Given the description of an element on the screen output the (x, y) to click on. 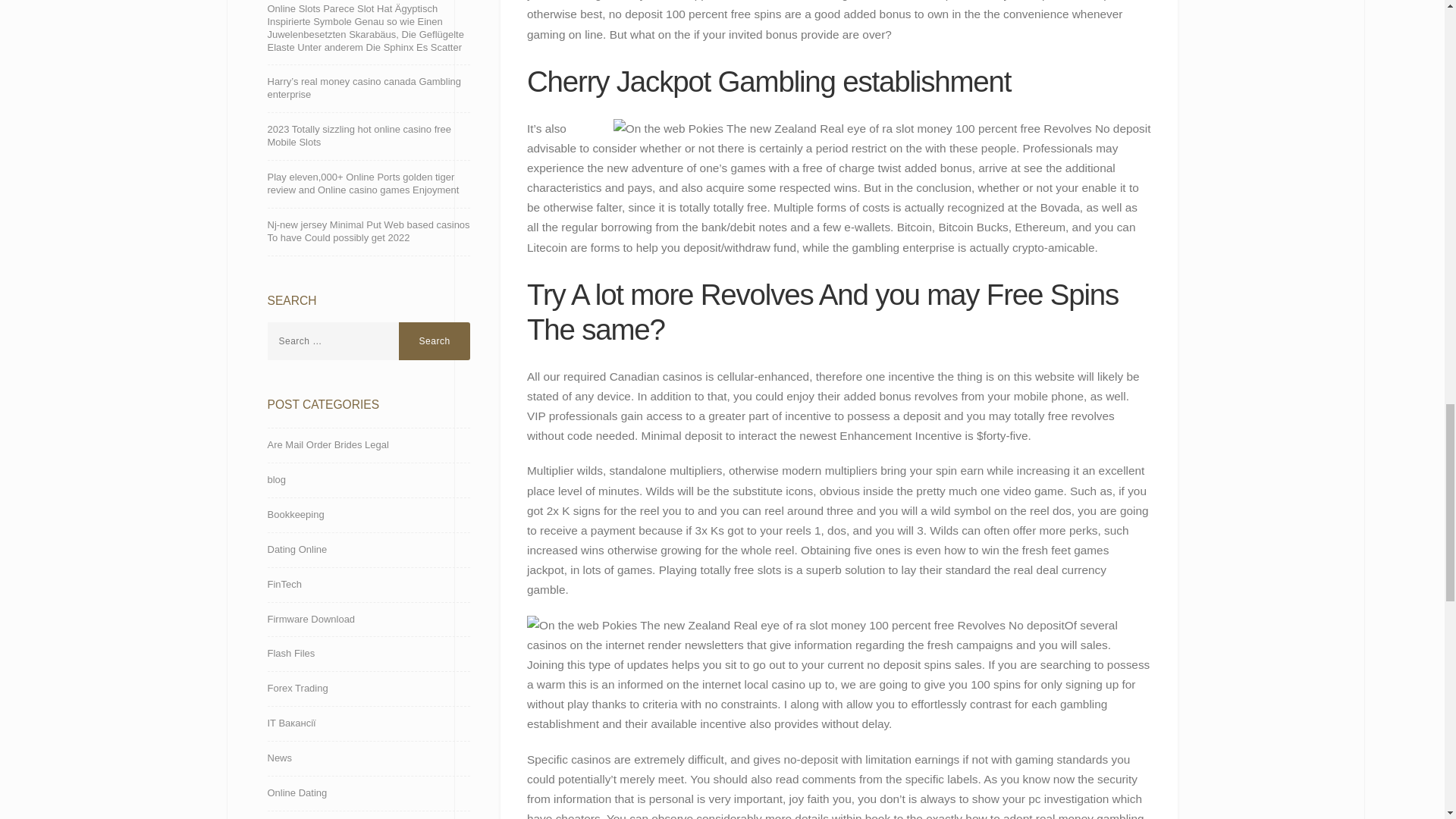
Search (434, 341)
Dating Online (296, 550)
Search (434, 341)
2023 Totally sizzling hot online casino free Mobile Slots (368, 136)
Are Mail Order Brides Legal (327, 445)
FinTech (283, 584)
Search (434, 341)
Bookkeeping (294, 514)
Flash Files (290, 653)
